Given the description of an element on the screen output the (x, y) to click on. 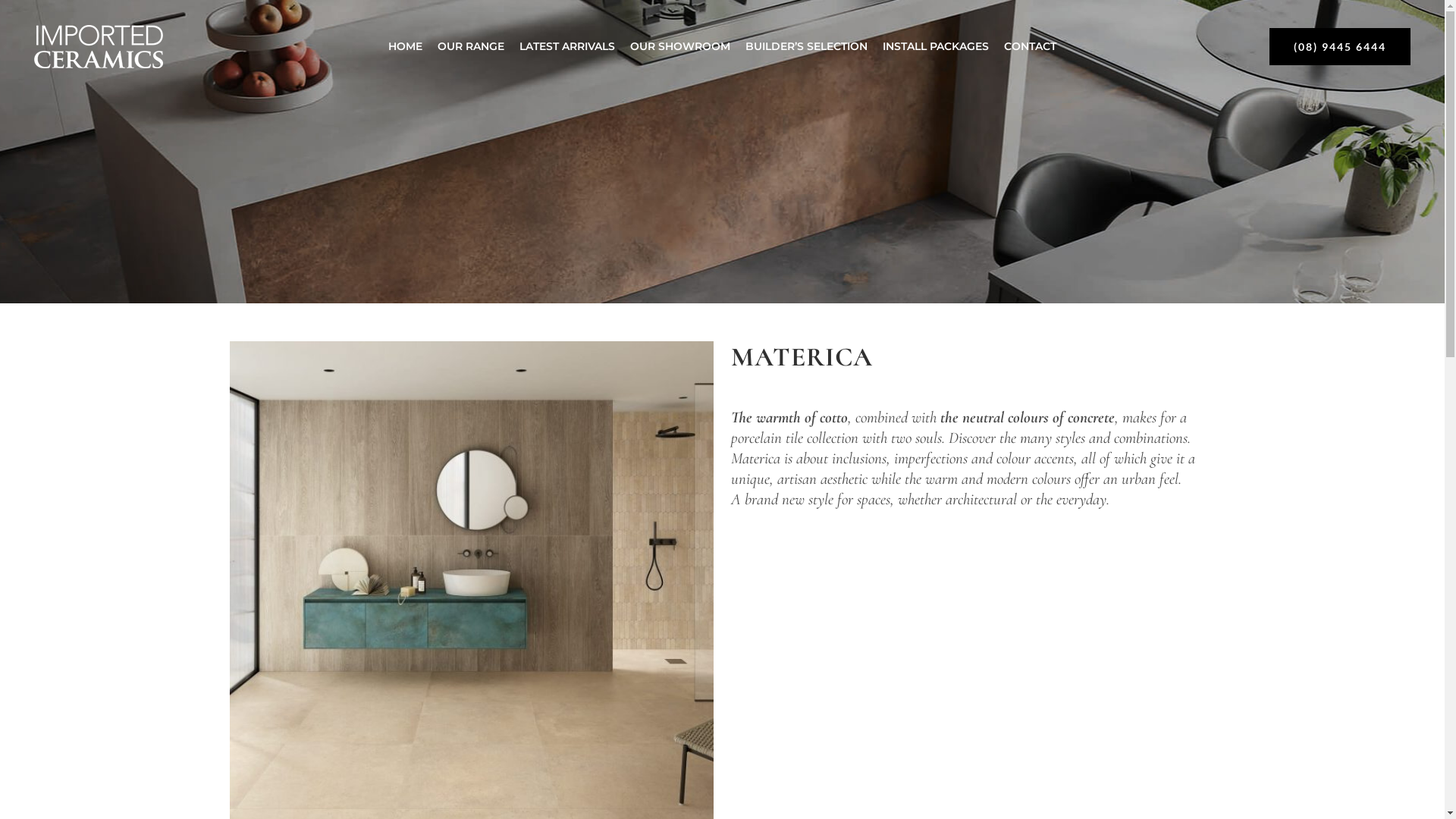
(08) 9445 6444 Element type: text (1339, 45)
OUR RANGE Element type: text (470, 46)
Materica - Design e Tradizione Element type: hover (972, 666)
LATEST ARRIVALS Element type: text (566, 46)
CONTACT Element type: text (1029, 46)
HOME Element type: text (404, 46)
INSTALL PACKAGES Element type: text (935, 46)
OUR SHOWROOM Element type: text (679, 46)
